Given the description of an element on the screen output the (x, y) to click on. 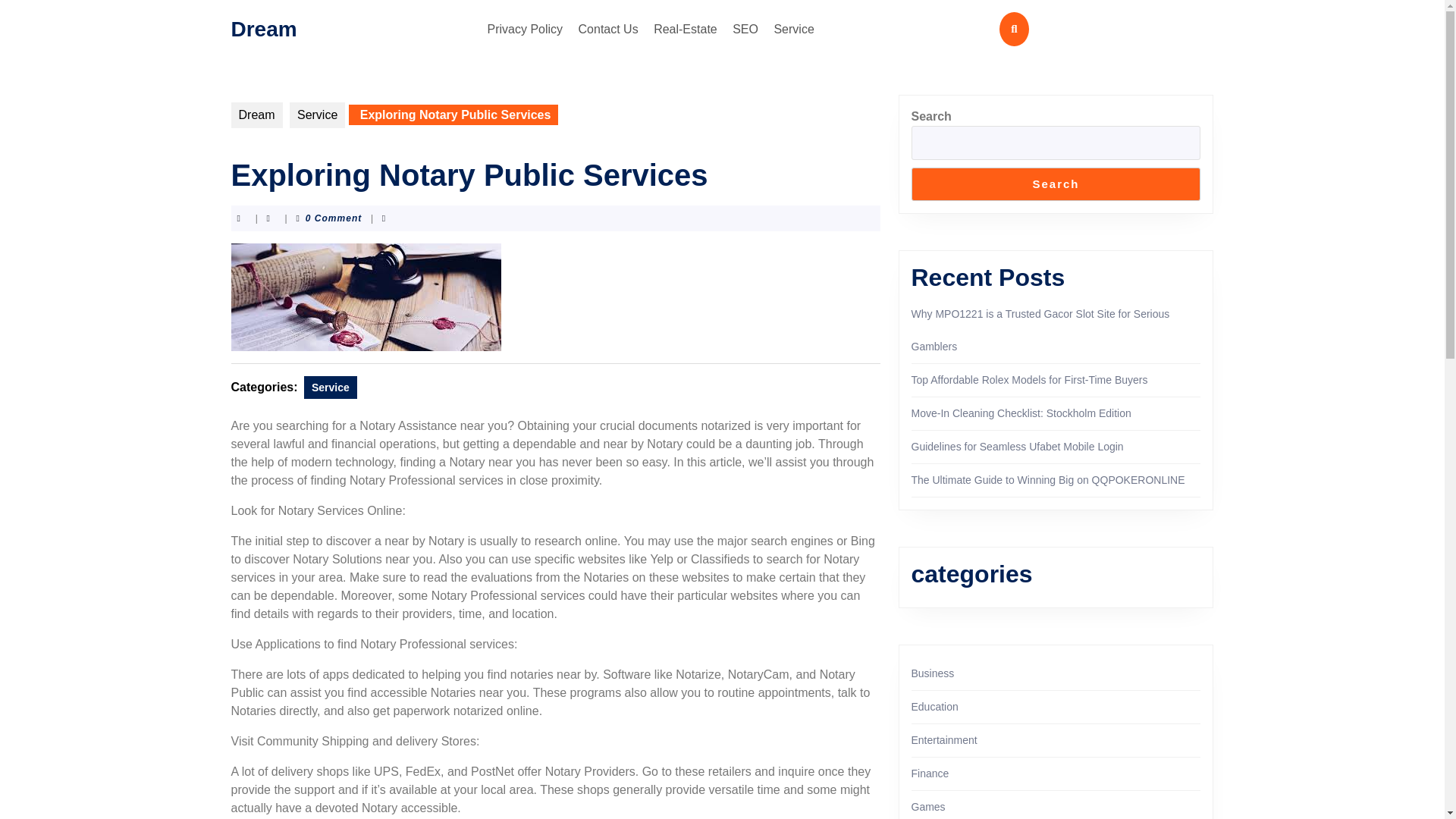
Privacy Policy (524, 28)
Dream (263, 28)
Service (317, 114)
Search (1056, 183)
Contact Us (608, 28)
Guidelines for Seamless Ufabet Mobile Login (1017, 446)
Real-Estate (685, 28)
Top Affordable Rolex Models for First-Time Buyers (1029, 379)
SEO (745, 28)
Dream (256, 114)
